Given the description of an element on the screen output the (x, y) to click on. 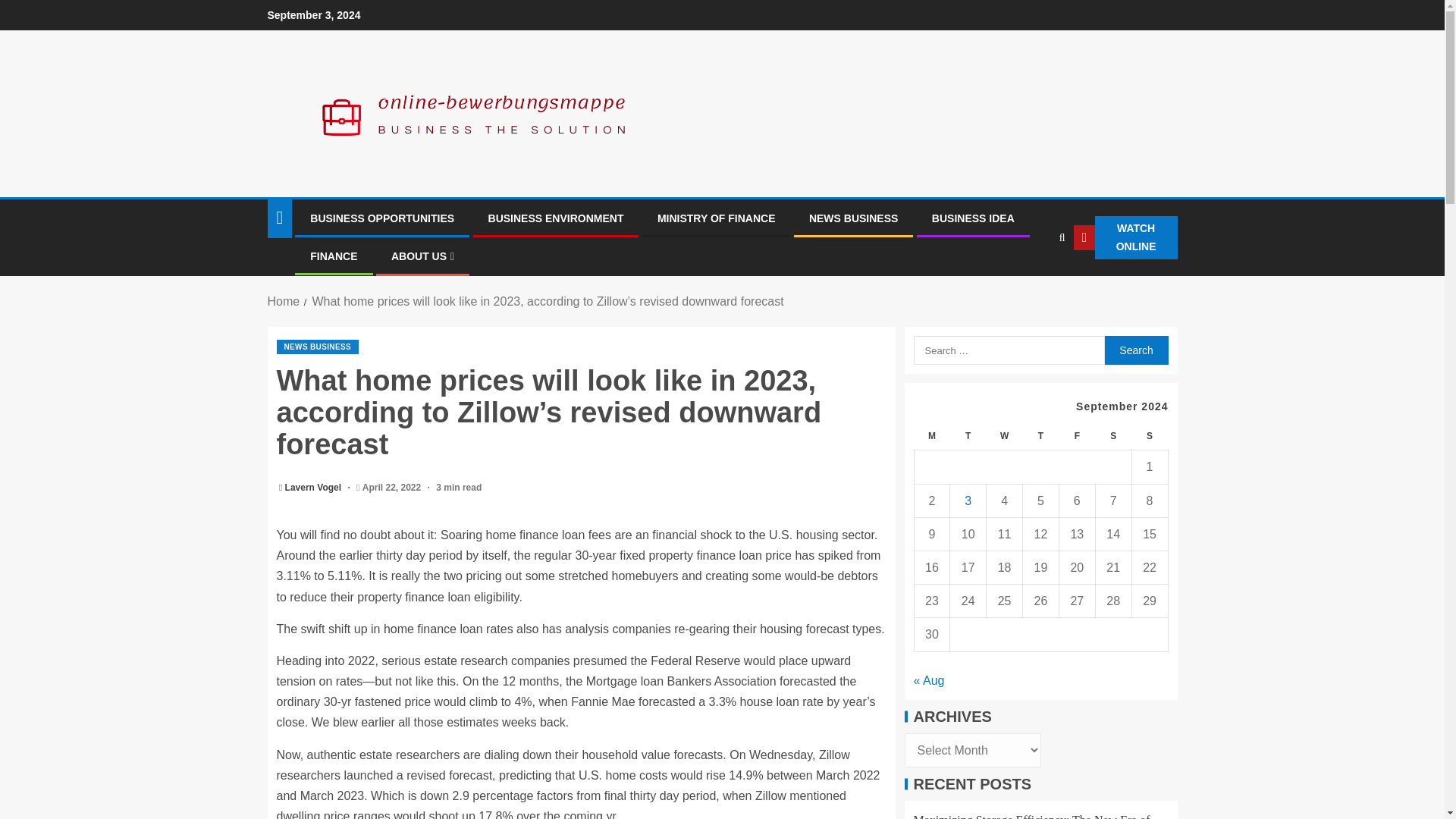
Friday (1076, 436)
BUSINESS OPPORTUNITIES (382, 218)
Lavern Vogel (314, 487)
BUSINESS ENVIRONMENT (555, 218)
NEWS BUSINESS (317, 346)
ABOUT US (422, 256)
Wednesday (1005, 436)
Search (1135, 349)
Home (282, 300)
MINISTRY OF FINANCE (717, 218)
